Given the description of an element on the screen output the (x, y) to click on. 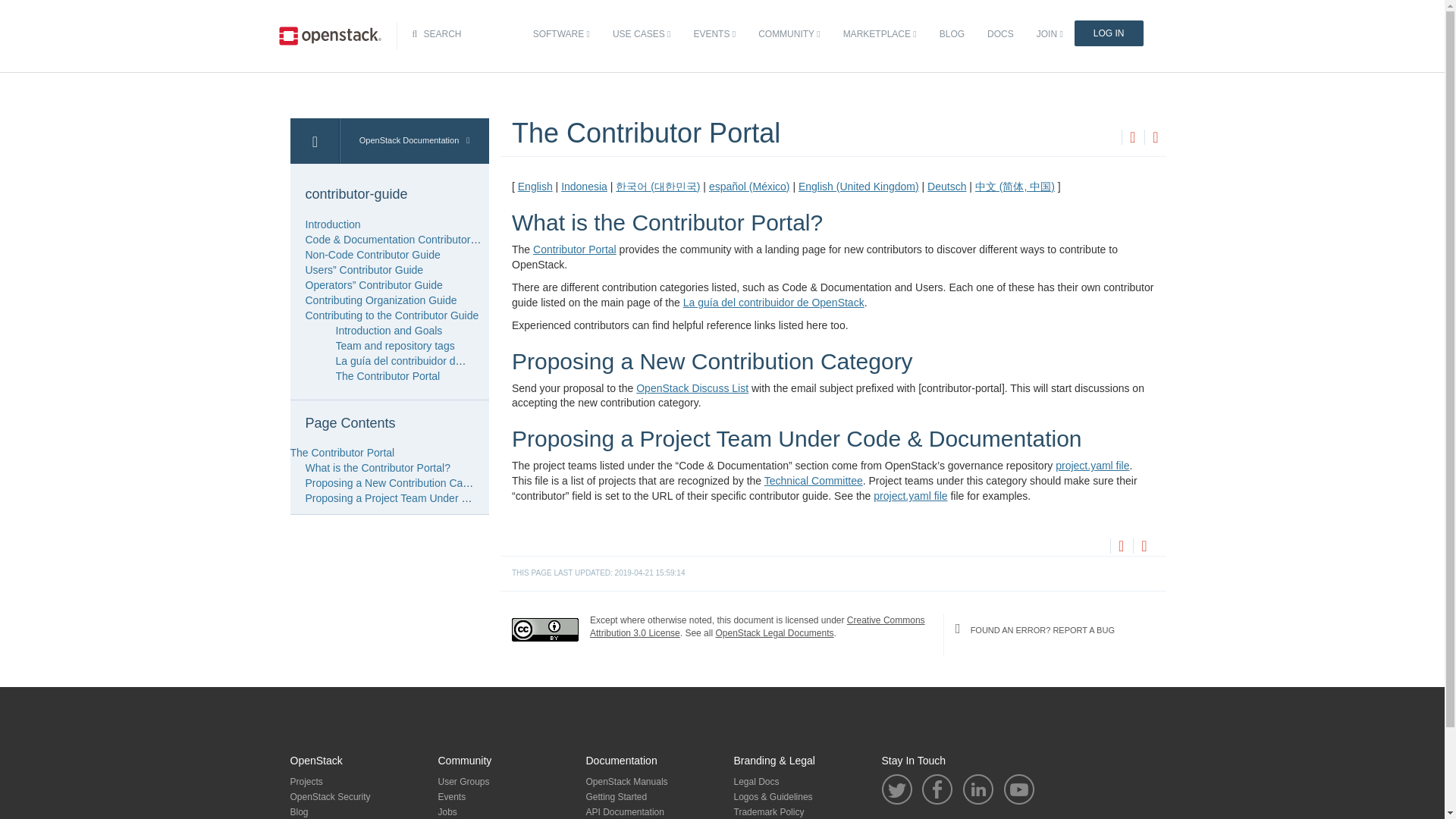
SOFTWARE (561, 34)
USE CASES (641, 34)
Found an error? Report a bug against this page (1155, 138)
COMMUNITY (788, 34)
MARKETPLACE (879, 34)
EVENTS (713, 34)
Found an error? Report a bug against this page (1143, 547)
